Given the description of an element on the screen output the (x, y) to click on. 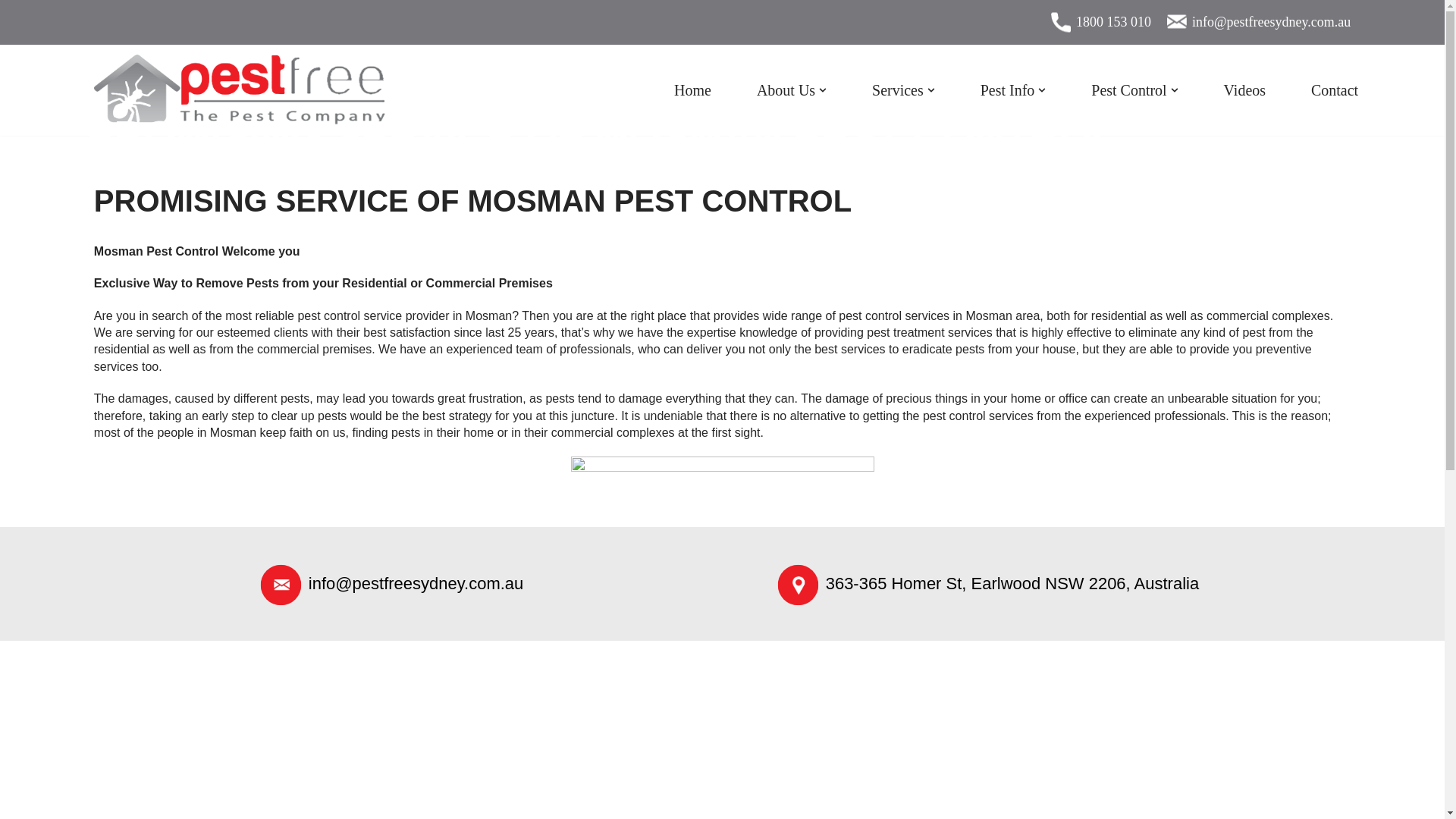
1800 153 010 (1113, 21)
Skip to content (11, 31)
Pest Control (1133, 90)
Pest Free Sydney (239, 89)
Pest Control Mosman - Pest Free Sydney (721, 491)
